Given the description of an element on the screen output the (x, y) to click on. 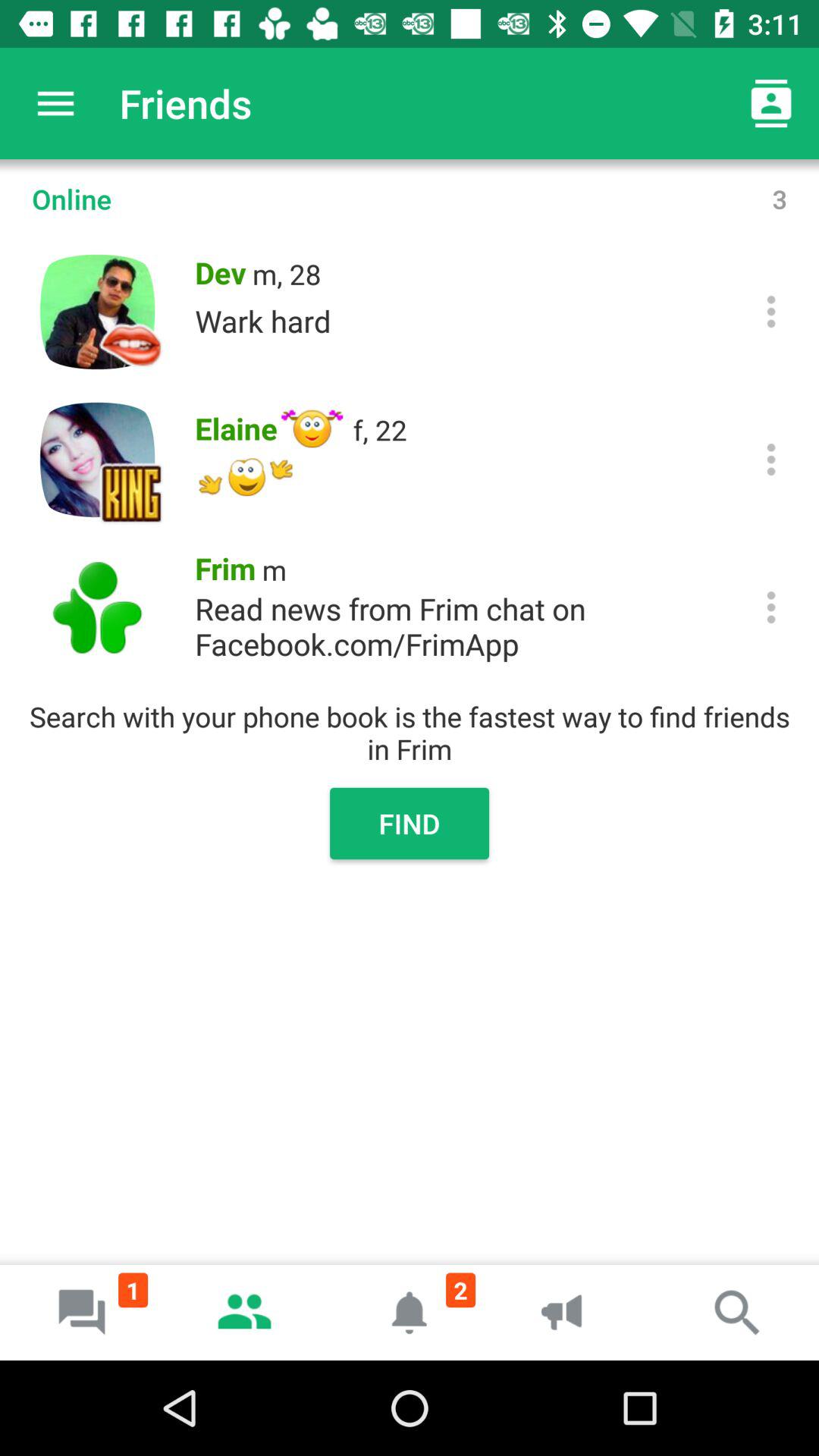
open more information (771, 311)
